Given the description of an element on the screen output the (x, y) to click on. 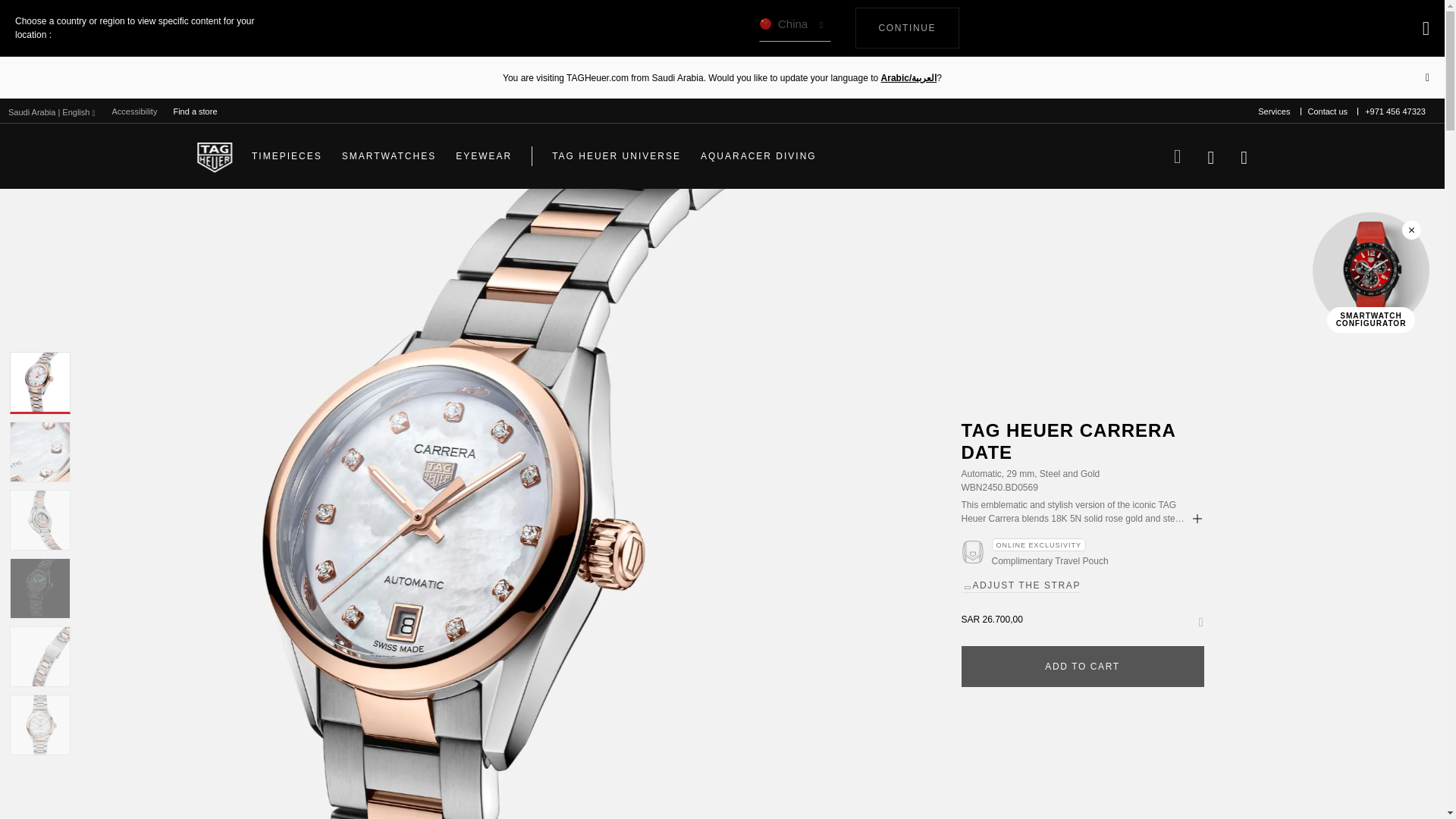
Services (907, 27)
Accessibility (1273, 111)
Find a store (134, 111)
China (194, 110)
Read more about product description (794, 27)
TIMEPIECES (1197, 518)
Contact us (286, 156)
